Given the description of an element on the screen output the (x, y) to click on. 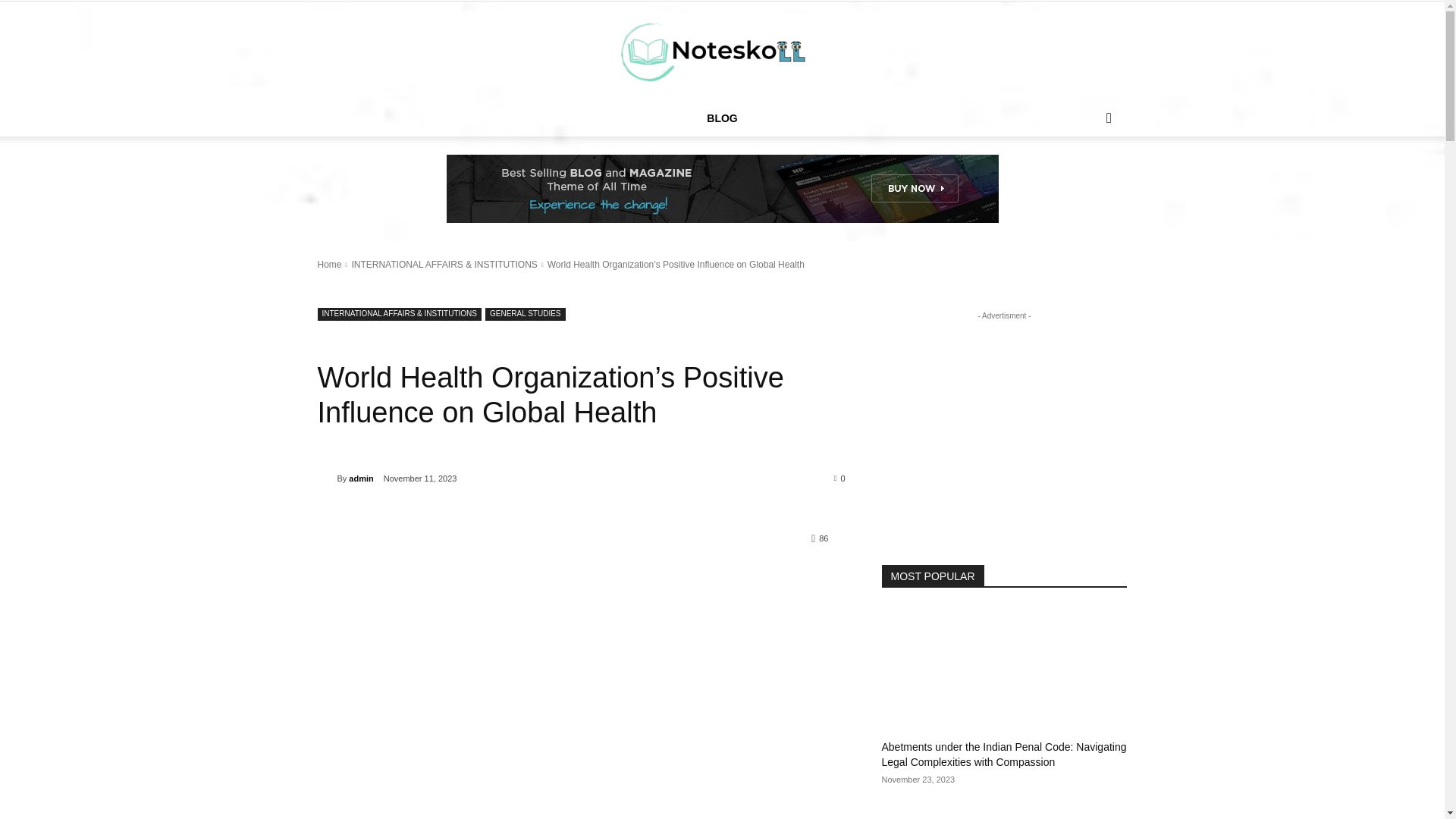
admin (326, 478)
BLOG (721, 117)
